Given the description of an element on the screen output the (x, y) to click on. 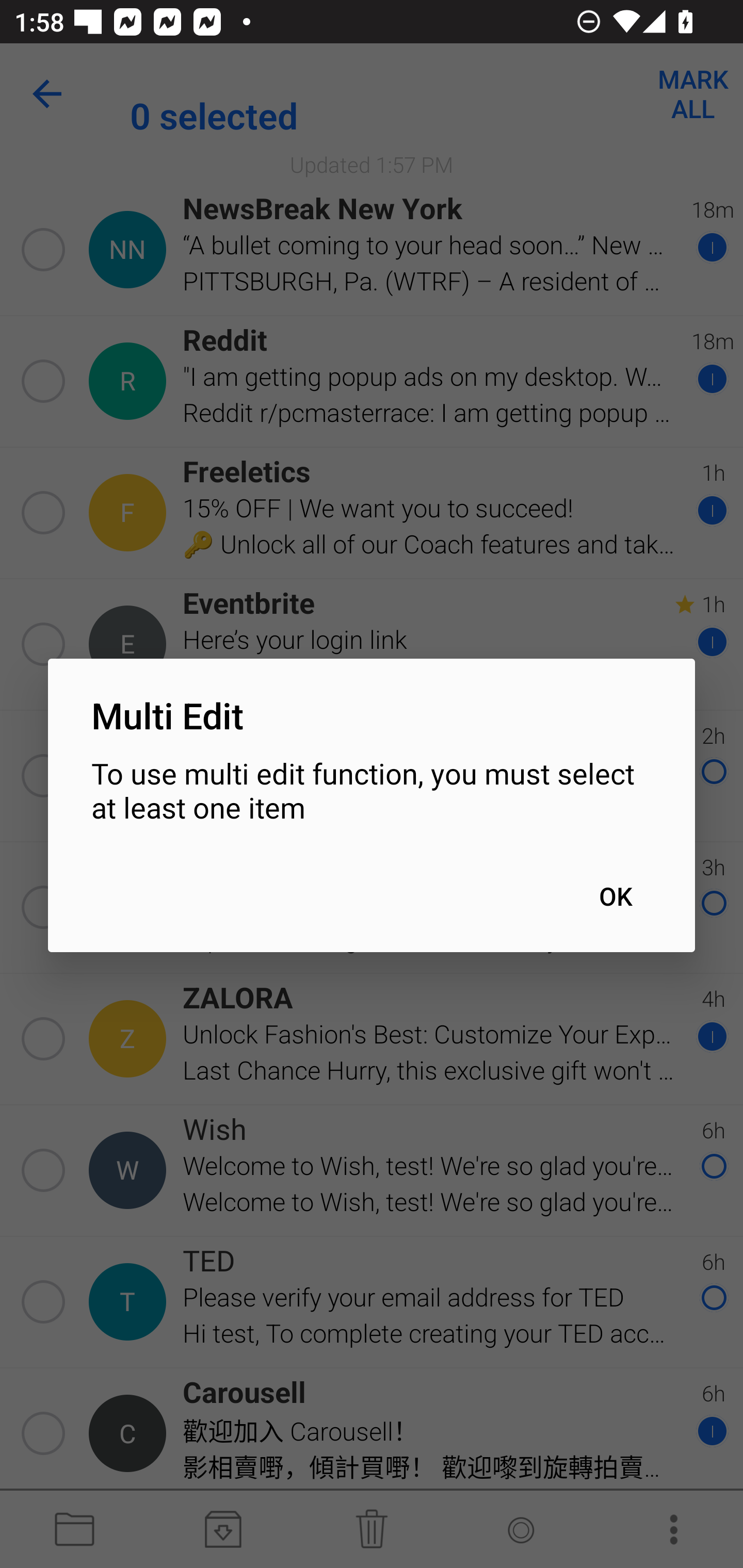
OK (615, 895)
